Given the description of an element on the screen output the (x, y) to click on. 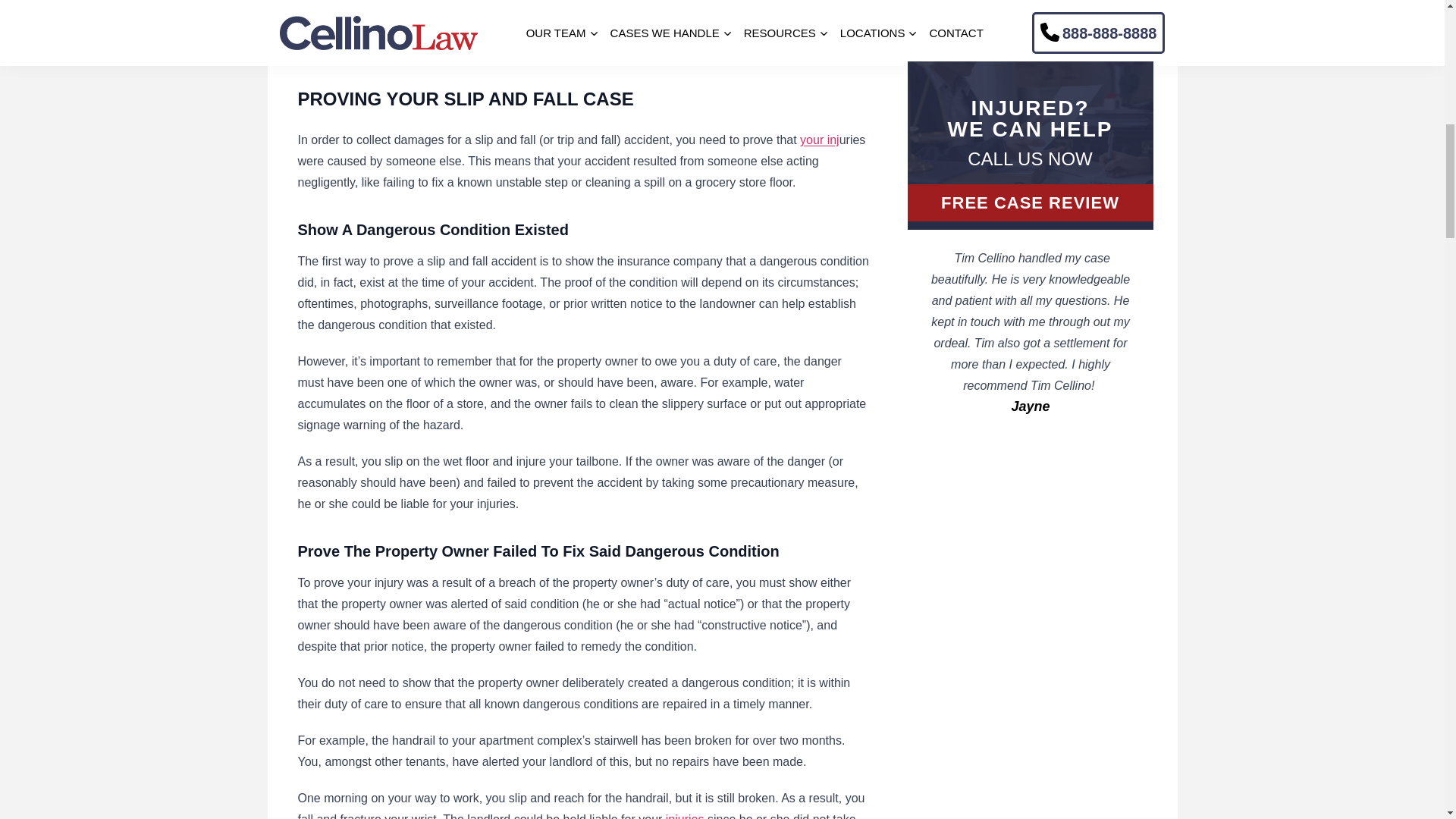
Send (1030, 134)
